Given the description of an element on the screen output the (x, y) to click on. 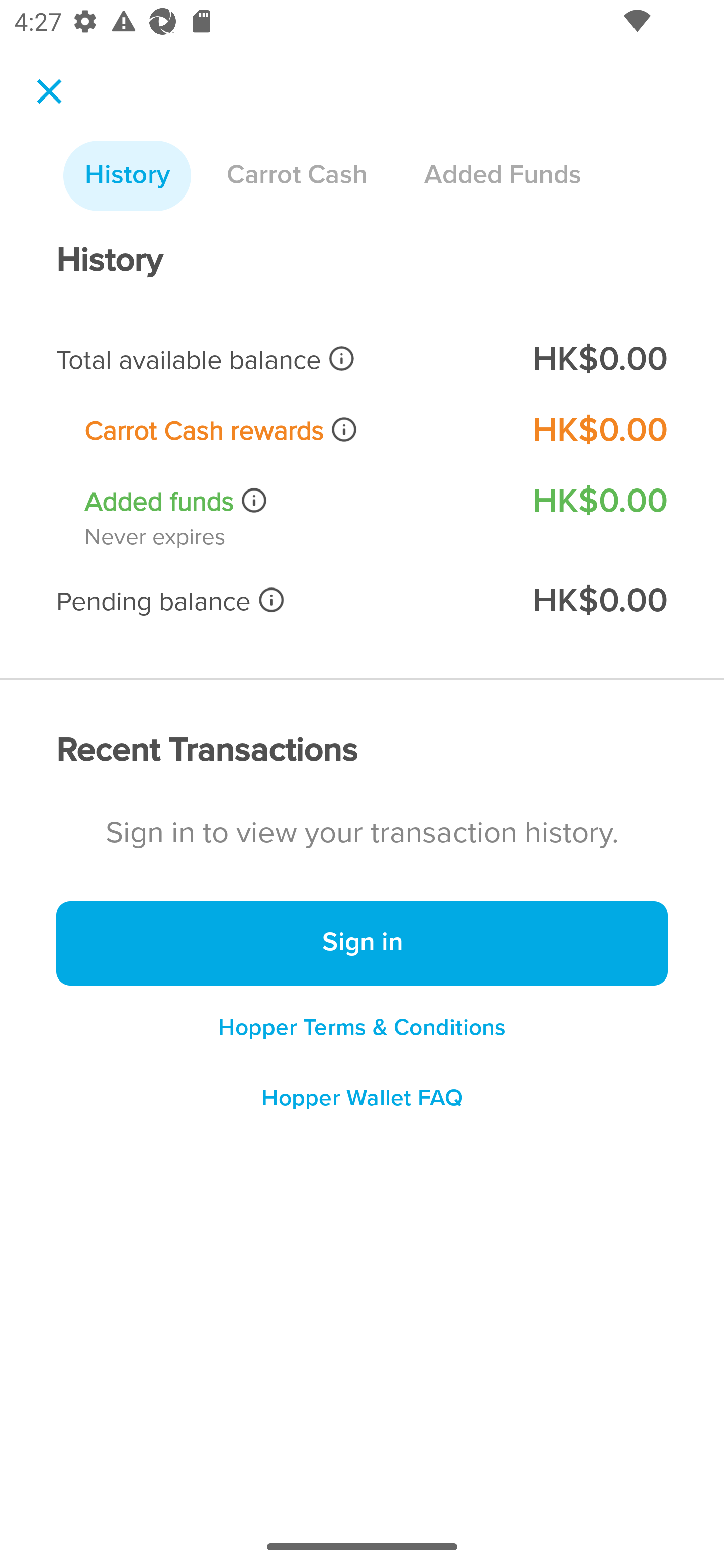
Navigate up (49, 91)
‍History (127, 176)
‍Carrot Cash (296, 176)
‍Added Funds (502, 176)
Hotels (106, 260)
‍HK$0.00 (599, 359)
‍Total available balance ​ (280, 359)
‍HK$0.00 (599, 430)
‍Carrot Cash rewards ​ (294, 430)
‍HK$0.00 (599, 500)
‍Added funds ​ (294, 501)
‍HK$0.00 (599, 601)
‍Pending balance ​ (280, 601)
‍Sign in (361, 943)
‍Hopper Terms & Conditions (361, 1027)
‍Hopper Wallet FAQ (361, 1104)
